Given the description of an element on the screen output the (x, y) to click on. 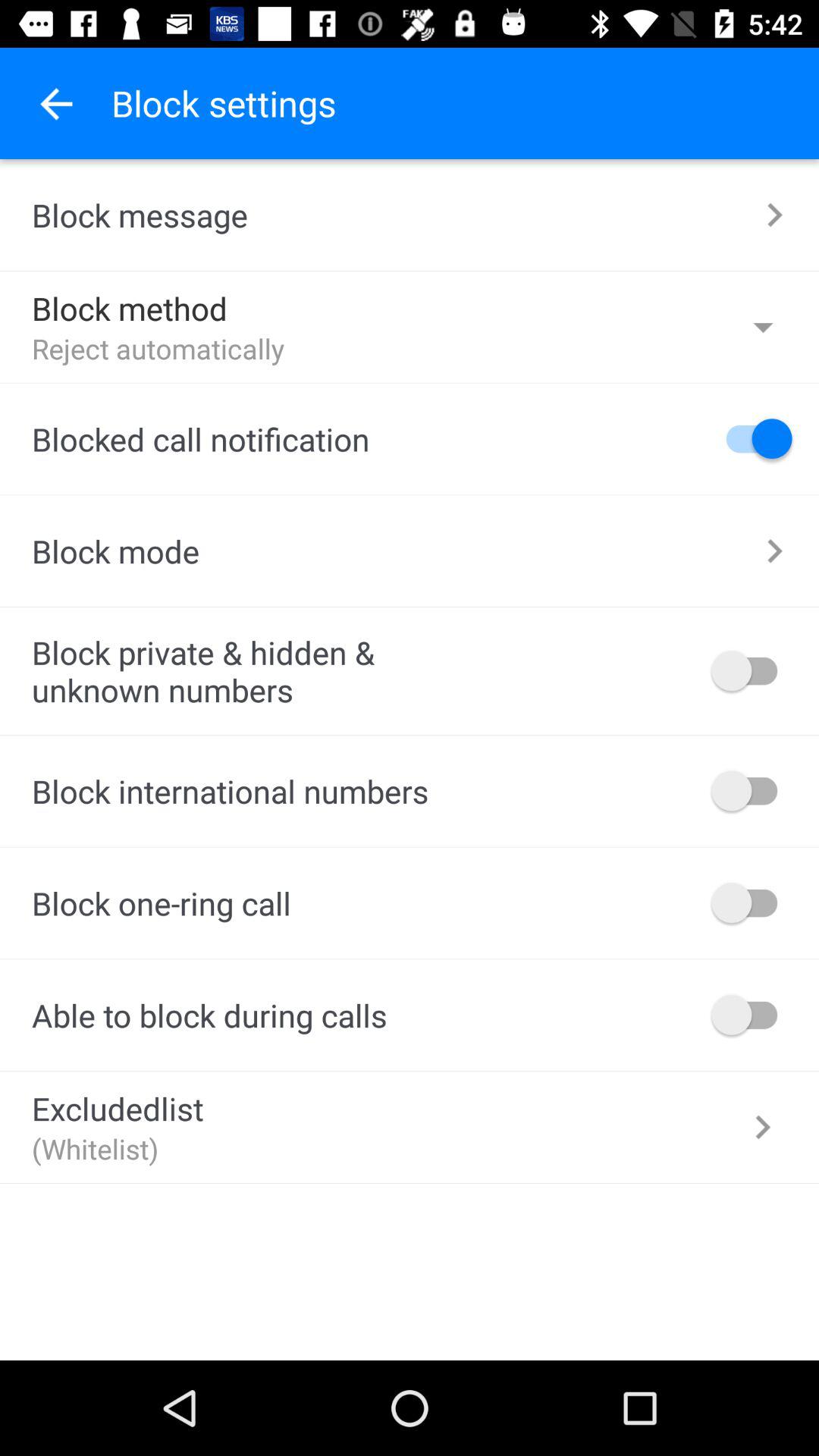
switch on (751, 670)
